Given the description of an element on the screen output the (x, y) to click on. 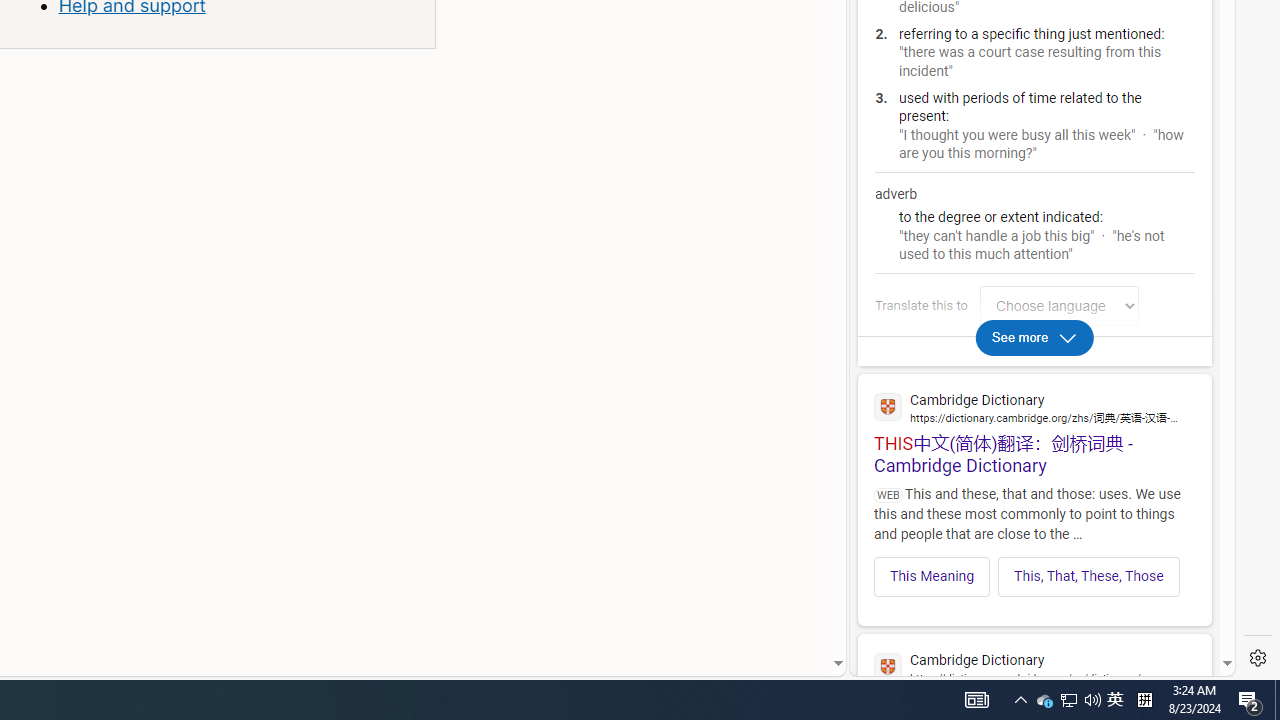
This, That, These, Those (1089, 575)
